Given the description of an element on the screen output the (x, y) to click on. 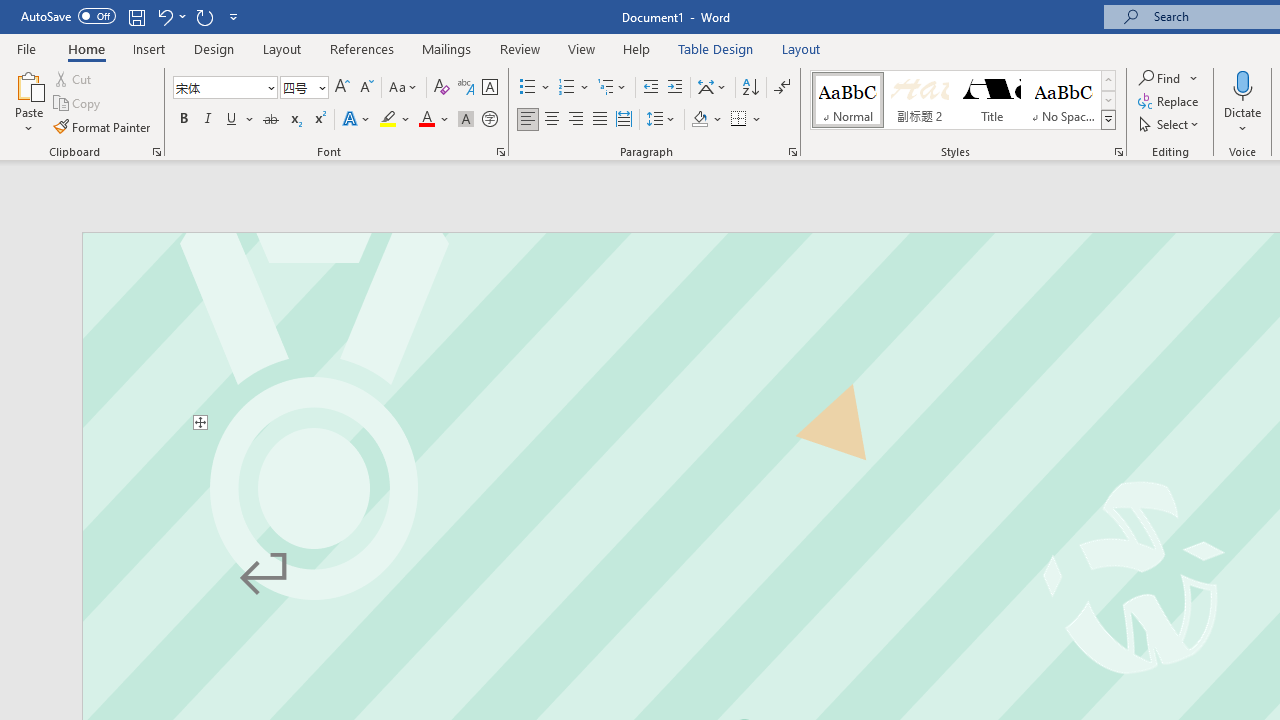
Repeat Doc Close (204, 15)
